Given the description of an element on the screen output the (x, y) to click on. 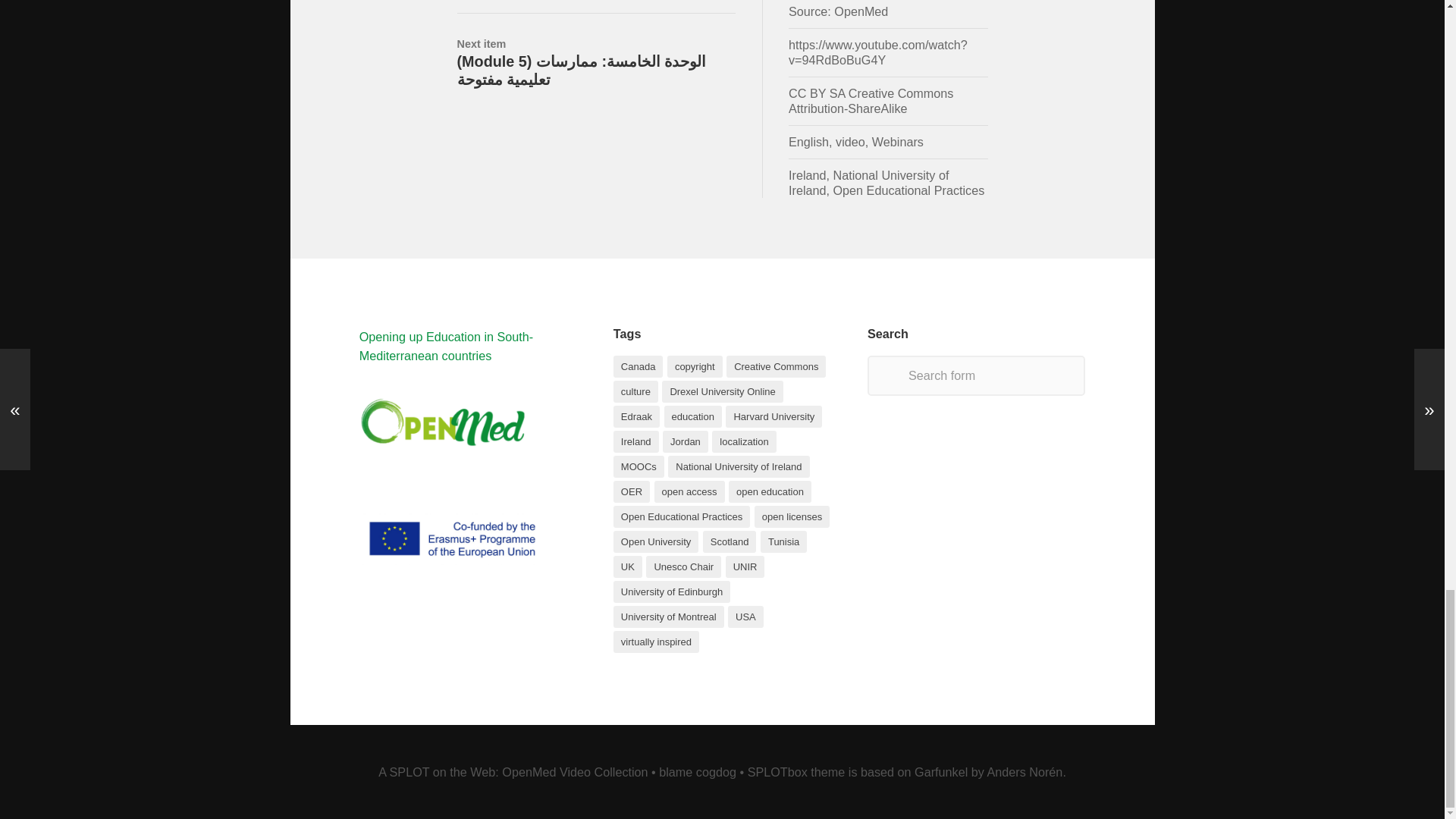
video (849, 141)
Open Educational Practices (908, 190)
Next post:  (596, 51)
copyright (694, 366)
Opening up Education in South-Mediterranean countries (446, 345)
National University of Ireland (869, 182)
English (808, 141)
Ireland (808, 174)
Canada (637, 366)
Webinars (897, 141)
